Given the description of an element on the screen output the (x, y) to click on. 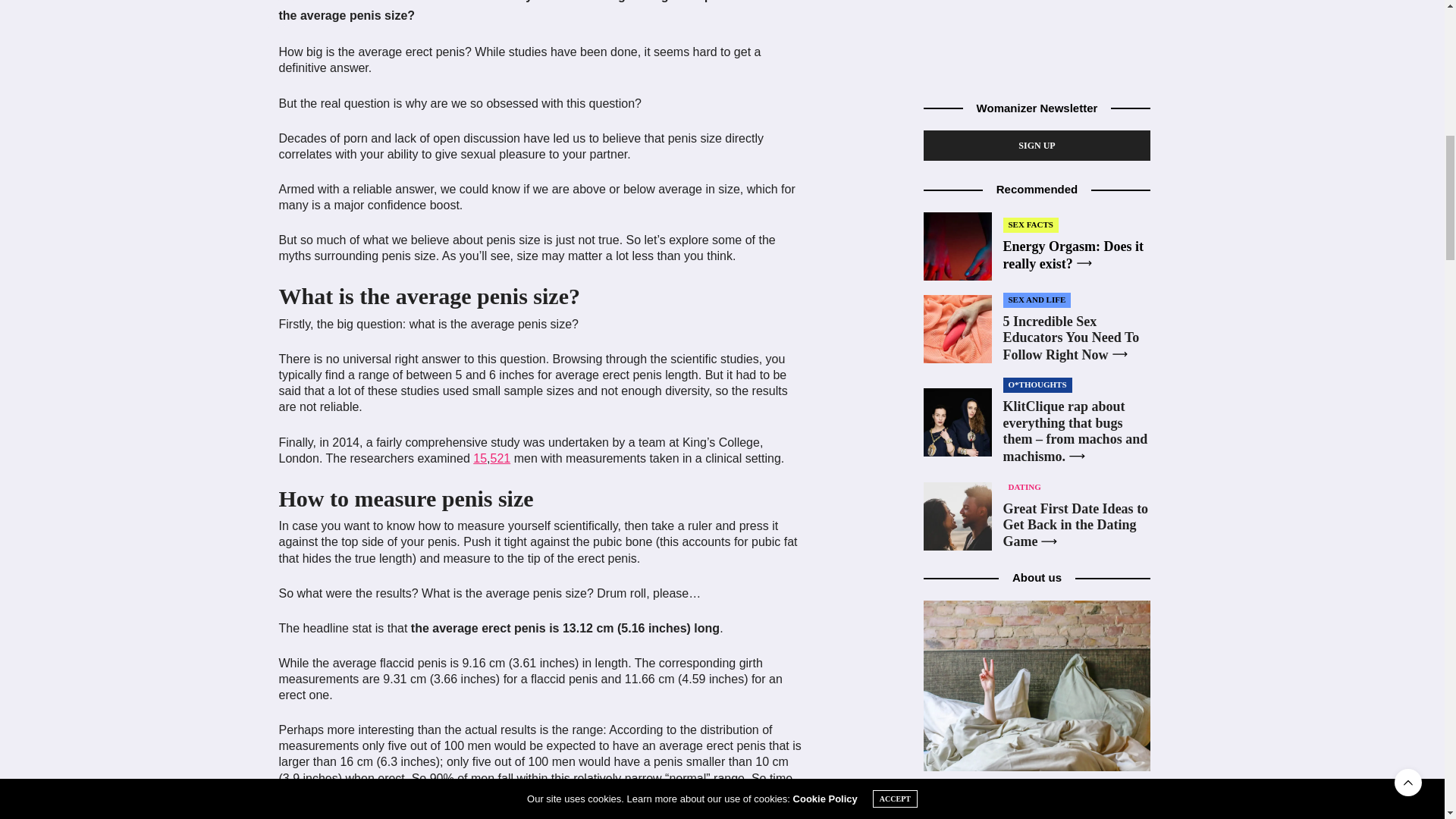
521 (500, 458)
15 (479, 458)
